Given the description of an element on the screen output the (x, y) to click on. 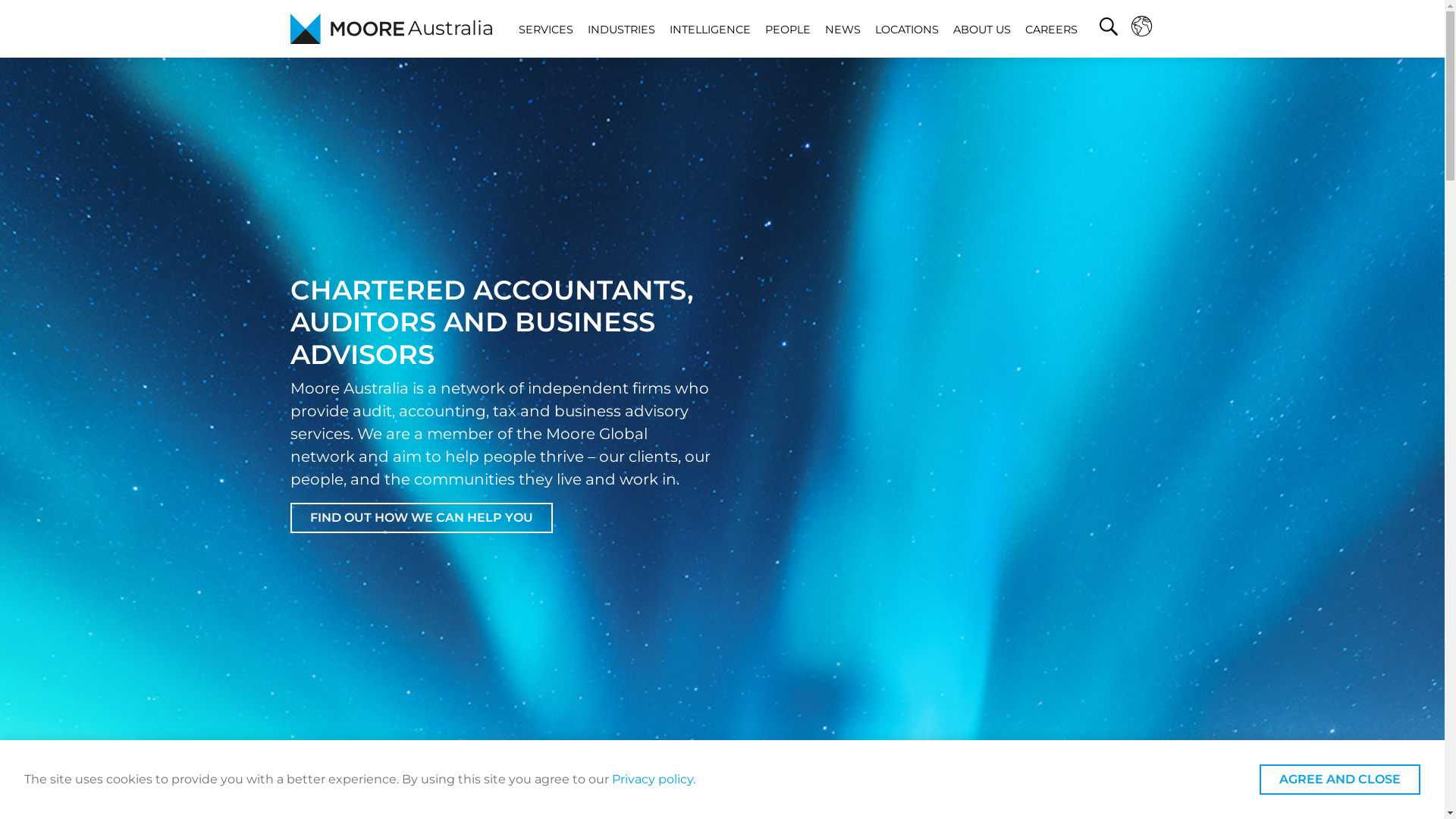
CHARTERED ACCOUNTANTS, AUDITORS AND BUSINESS ADVISORS Element type: text (491, 321)
SERVICES Element type: text (545, 28)
PEOPLE Element type: text (787, 28)
INTELLIGENCE Element type: text (709, 28)
LOCATIONS Element type: text (906, 28)
Agree and close Element type: text (1339, 779)
ABOUT US Element type: text (981, 28)
Australia Element type: text (390, 28)
SEARCH Element type: text (1108, 28)
FIND OUT HOW WE CAN HELP YOU Element type: text (420, 517)
CAREERS Element type: text (1051, 28)
INDUSTRIES Element type: text (621, 28)
NEWS Element type: text (842, 28)
Privacy policy Element type: text (652, 778)
